Given the description of an element on the screen output the (x, y) to click on. 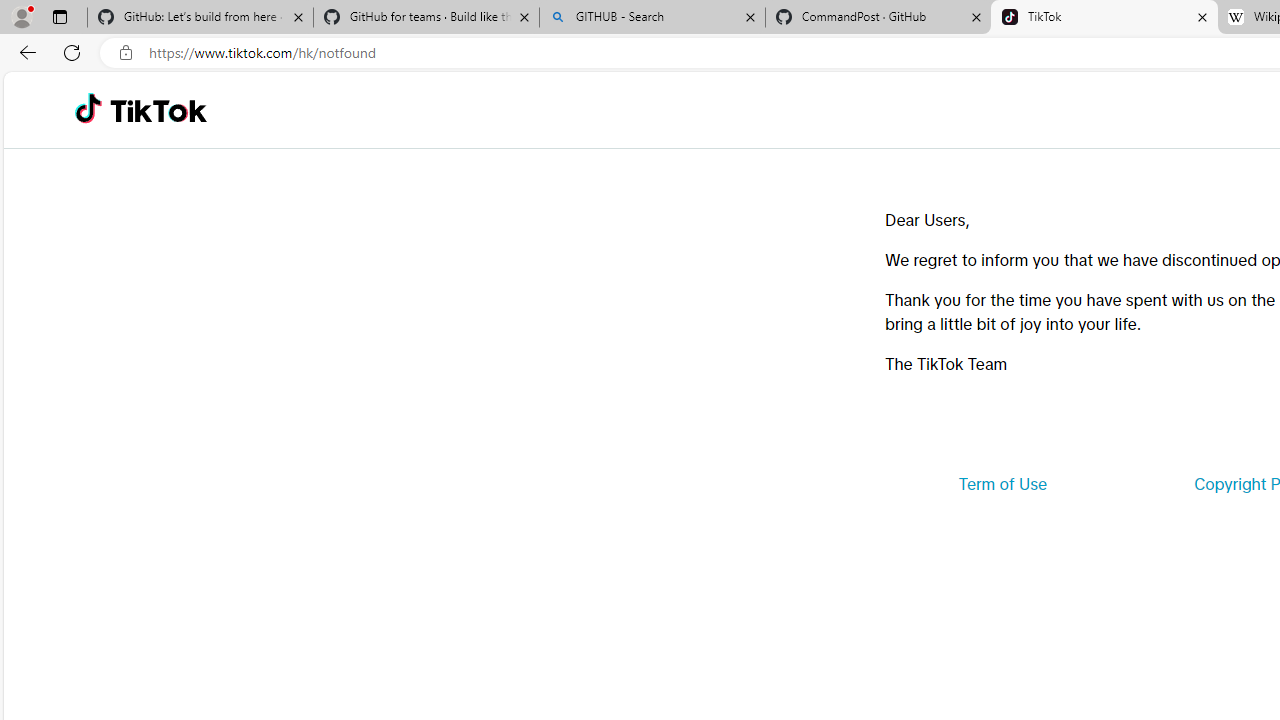
GITHUB - Search (652, 17)
Term of Use (1002, 484)
